Given the description of an element on the screen output the (x, y) to click on. 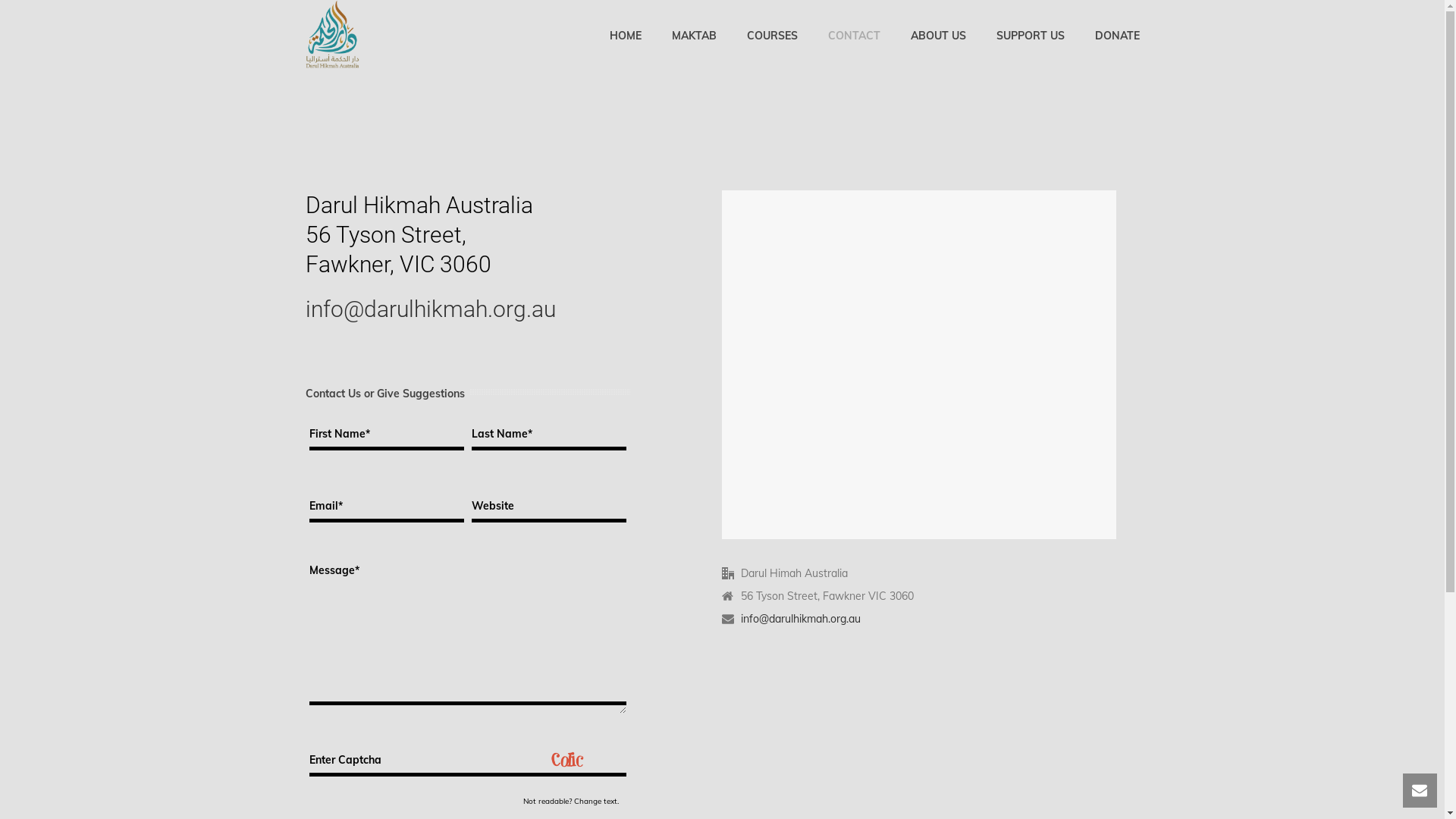
MAKTAB Element type: text (693, 34)
info@darulhikmah.org.au Element type: text (800, 618)
ABOUT US Element type: text (937, 34)
Not readable? Change text. Element type: text (570, 801)
DONATE Element type: text (1116, 34)
COURSES Element type: text (771, 34)
info@darulhikmah.org.au Element type: text (429, 308)
HOME Element type: text (625, 34)
CONTACT Element type: text (853, 34)
SUPPORT US Element type: text (1030, 34)
